Given the description of an element on the screen output the (x, y) to click on. 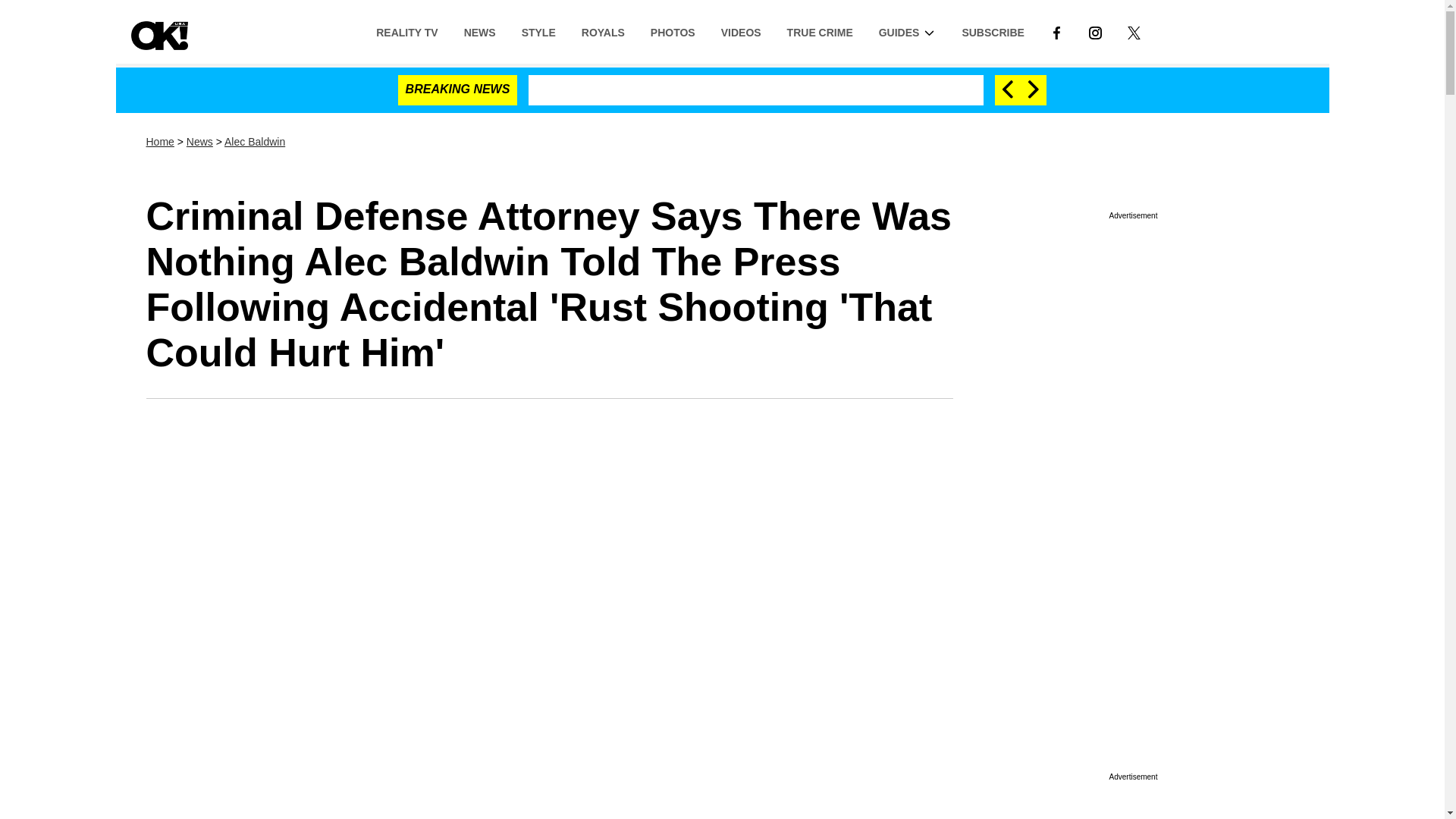
TRUE CRIME (820, 31)
REALITY TV (405, 31)
Link to X (1134, 31)
STYLE (538, 31)
SUBSCRIBE (992, 31)
LINK TO INSTAGRAM (1095, 31)
LINK TO X (1134, 31)
NEWS (479, 31)
Alec Baldwin (254, 141)
PHOTOS (672, 31)
